Given the description of an element on the screen output the (x, y) to click on. 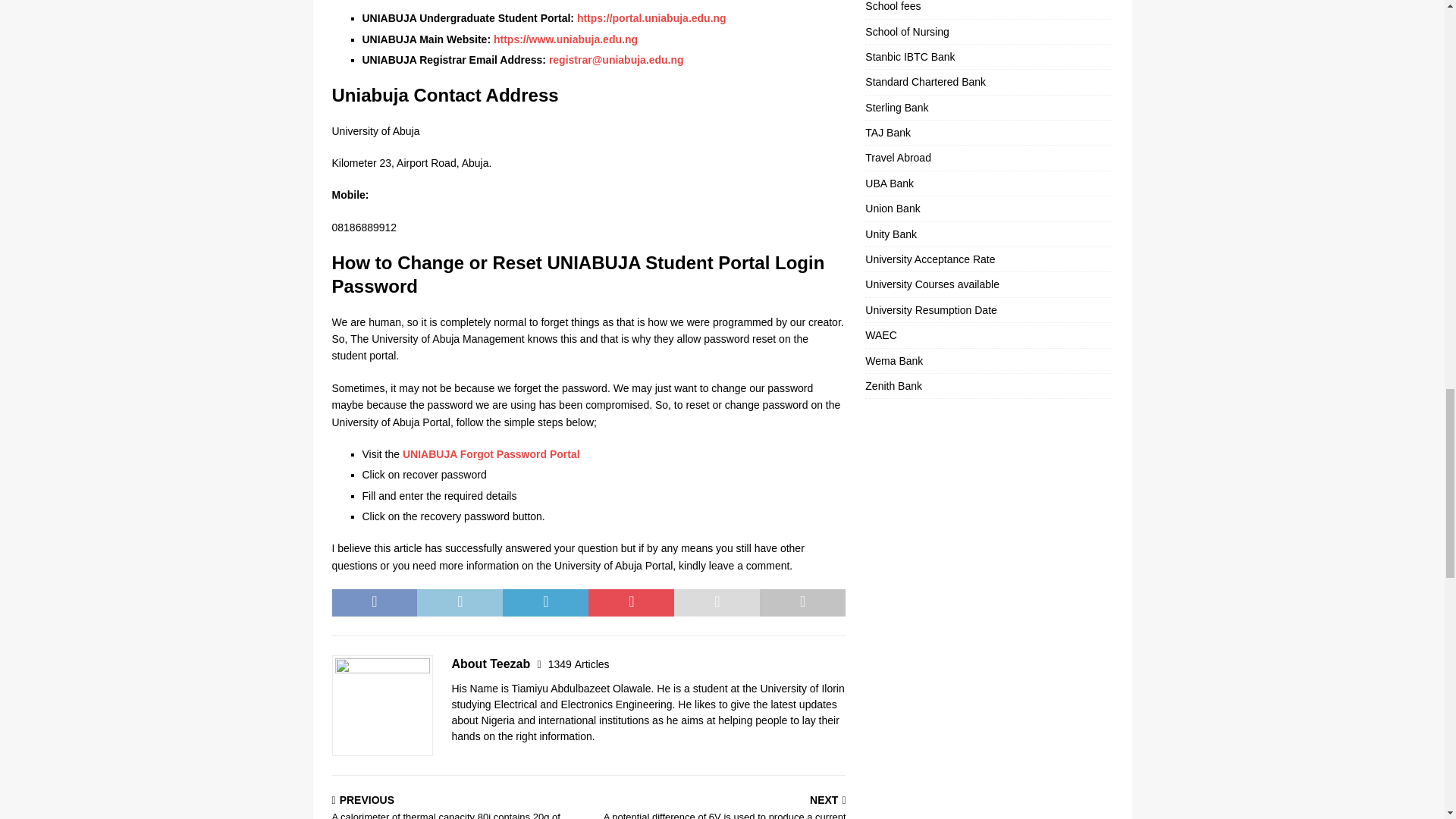
More articles written by Teezab' (579, 664)
UNIABUJA Forgot Password Portal (491, 453)
1349 Articles (579, 664)
